Given the description of an element on the screen output the (x, y) to click on. 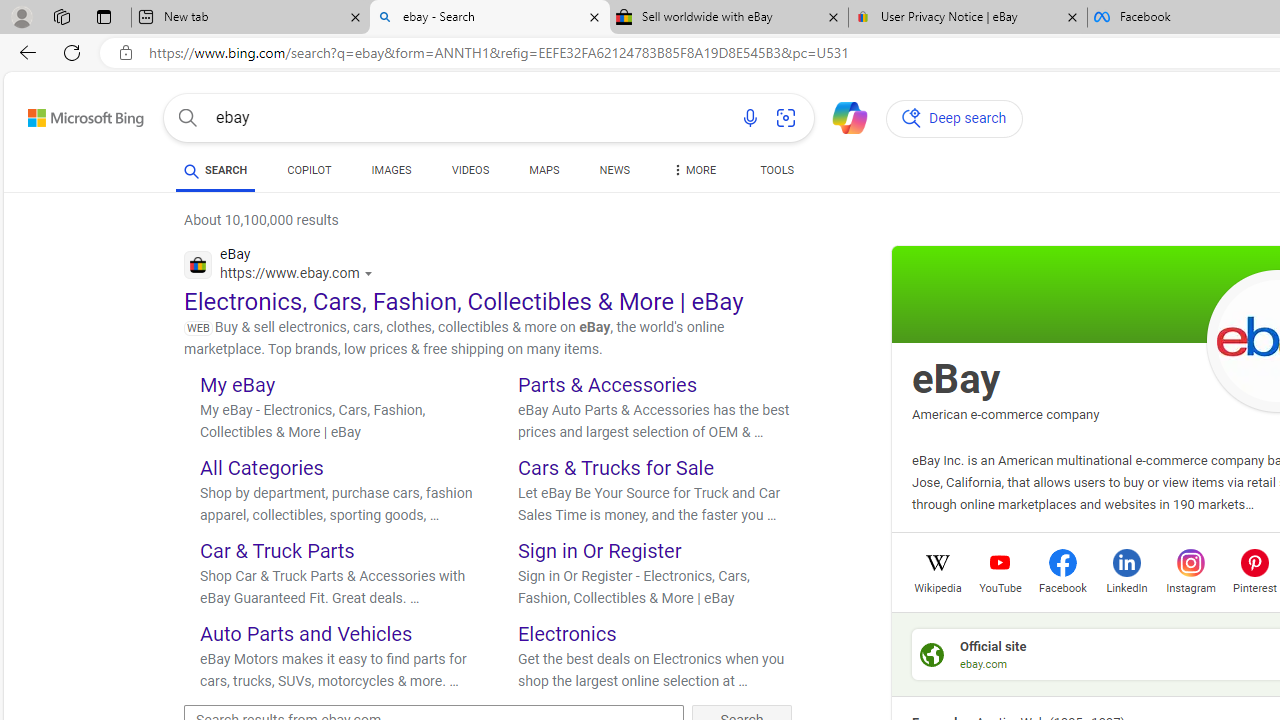
Search using voice (750, 117)
SEARCH (216, 170)
My eBay (237, 384)
VIDEOS (469, 173)
eBay (955, 378)
COPILOT (309, 173)
SEARCH (216, 170)
Actions for this site (370, 273)
Chat (842, 116)
IMAGES (391, 170)
